Given the description of an element on the screen output the (x, y) to click on. 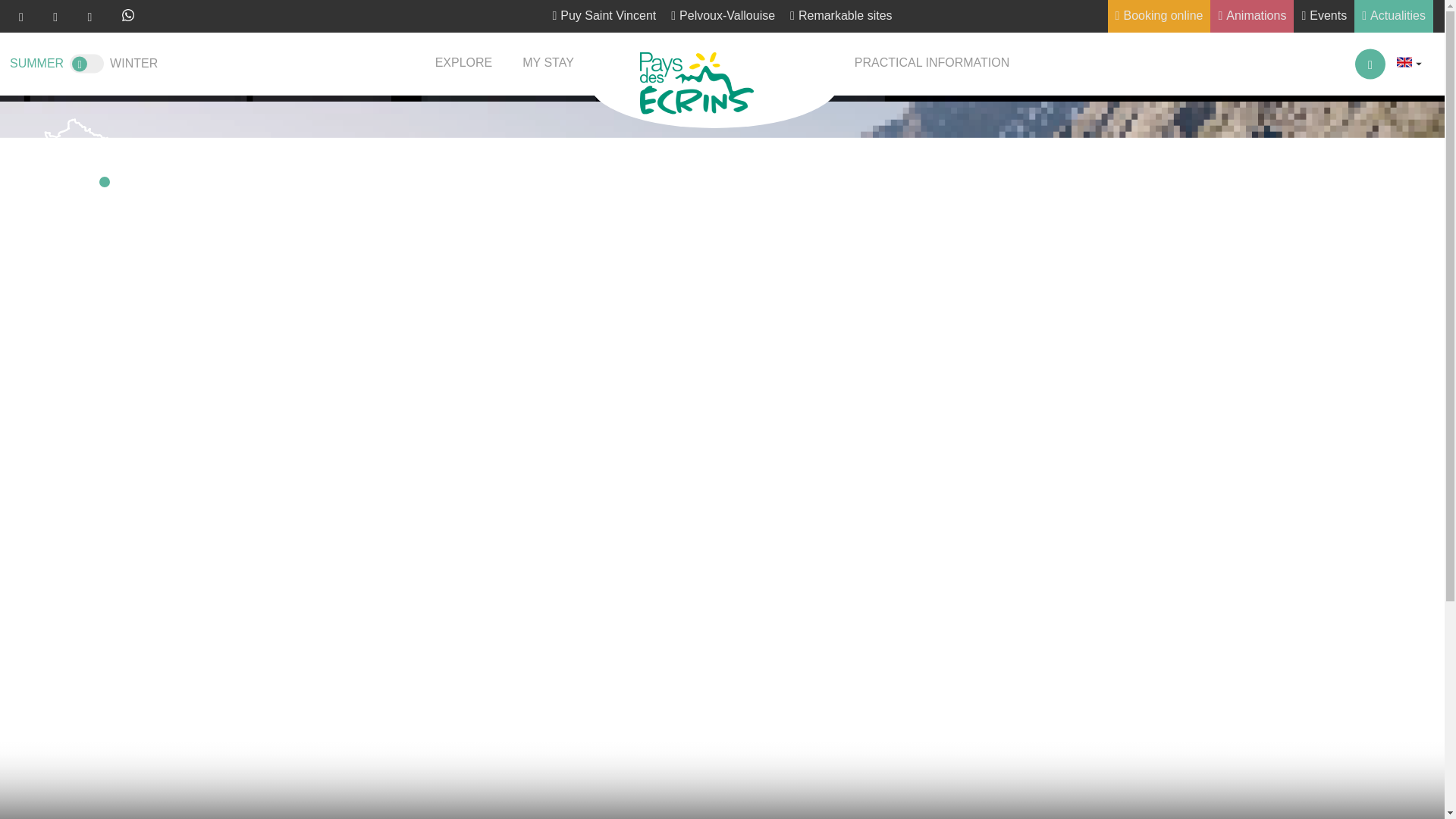
Events (1324, 16)
Booking online (1159, 16)
Animations (1251, 16)
Puy Saint Vincent (603, 16)
Pelvoux-Vallouise (723, 16)
EXPLORE (464, 63)
Remarkable sites (841, 16)
Actualities (1393, 16)
